Given the description of an element on the screen output the (x, y) to click on. 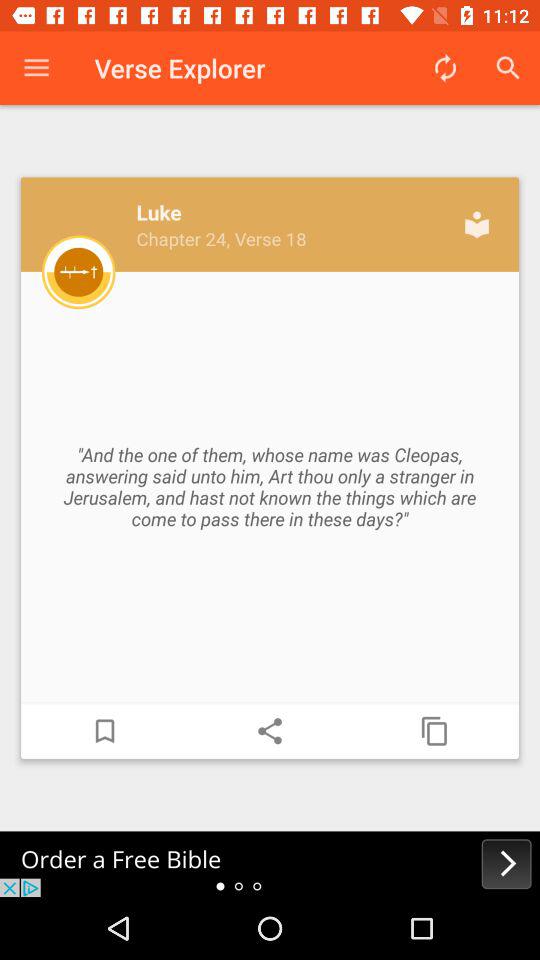
share (270, 731)
